Given the description of an element on the screen output the (x, y) to click on. 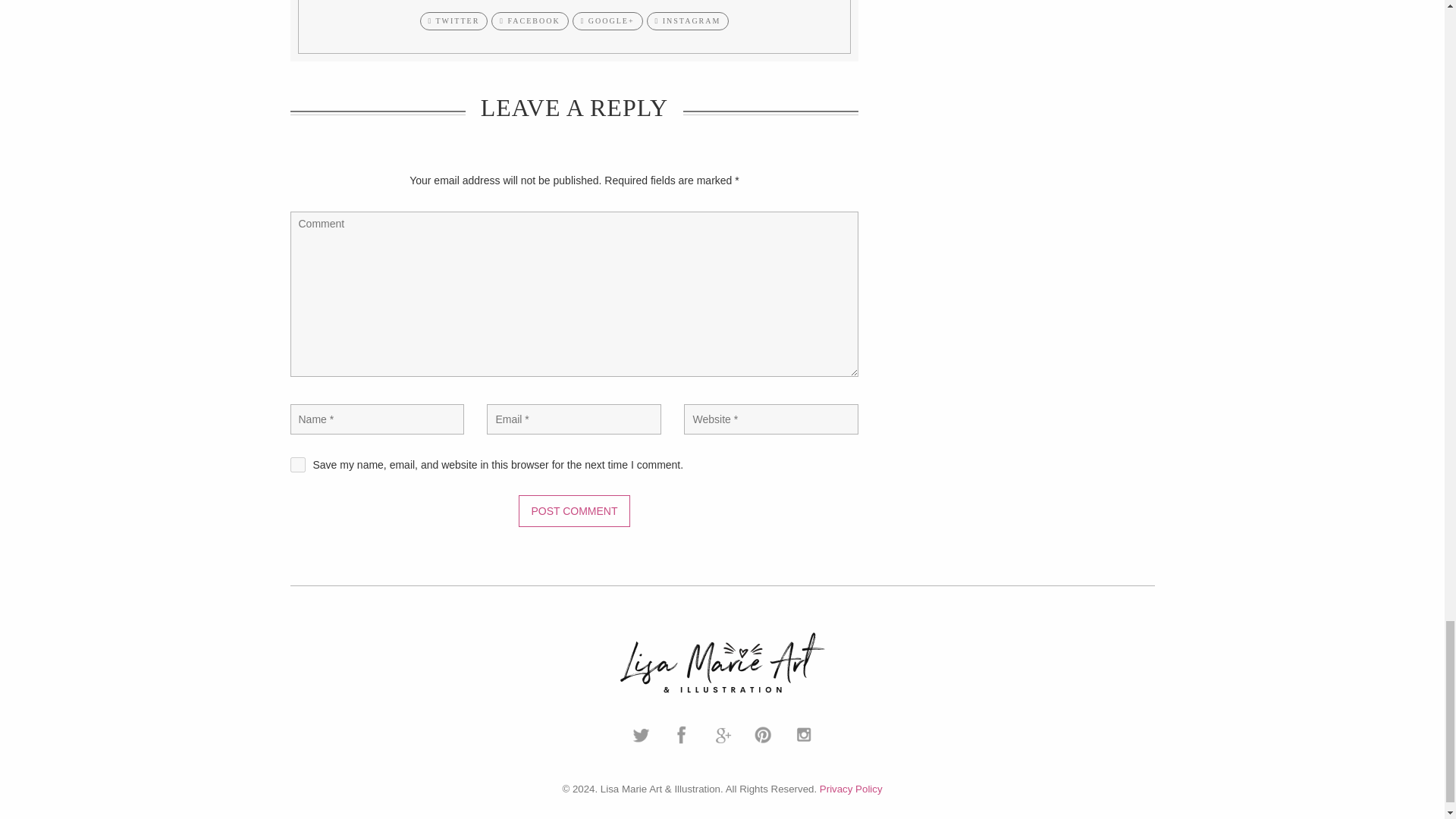
Post Comment (573, 511)
